Given the description of an element on the screen output the (x, y) to click on. 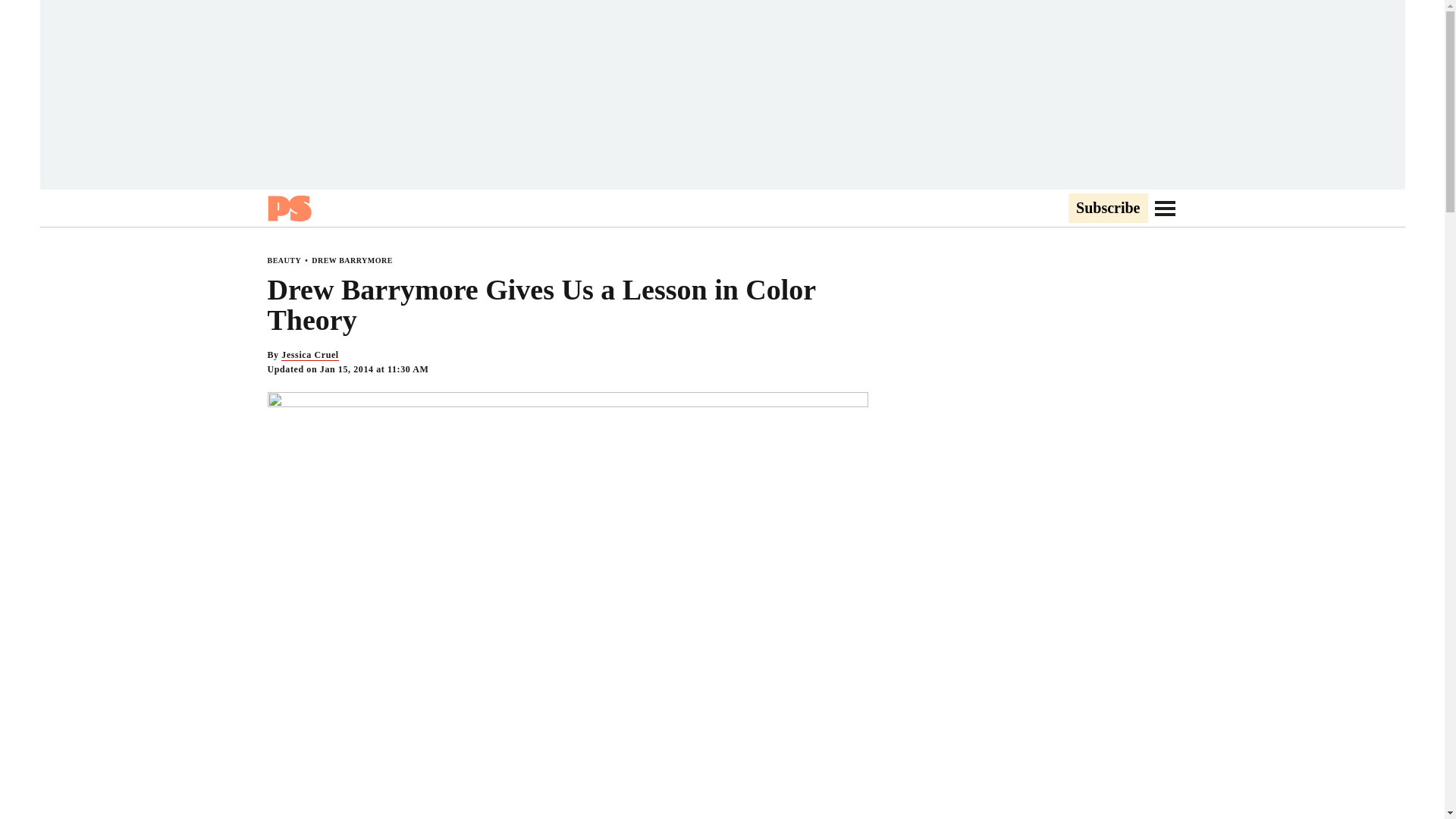
DREW BARRYMORE (352, 260)
BEAUTY (283, 260)
Go to Navigation (1164, 207)
Subscribe (1107, 208)
Jessica Cruel (309, 355)
Popsugar (288, 208)
Go to Navigation (1164, 207)
